Given the description of an element on the screen output the (x, y) to click on. 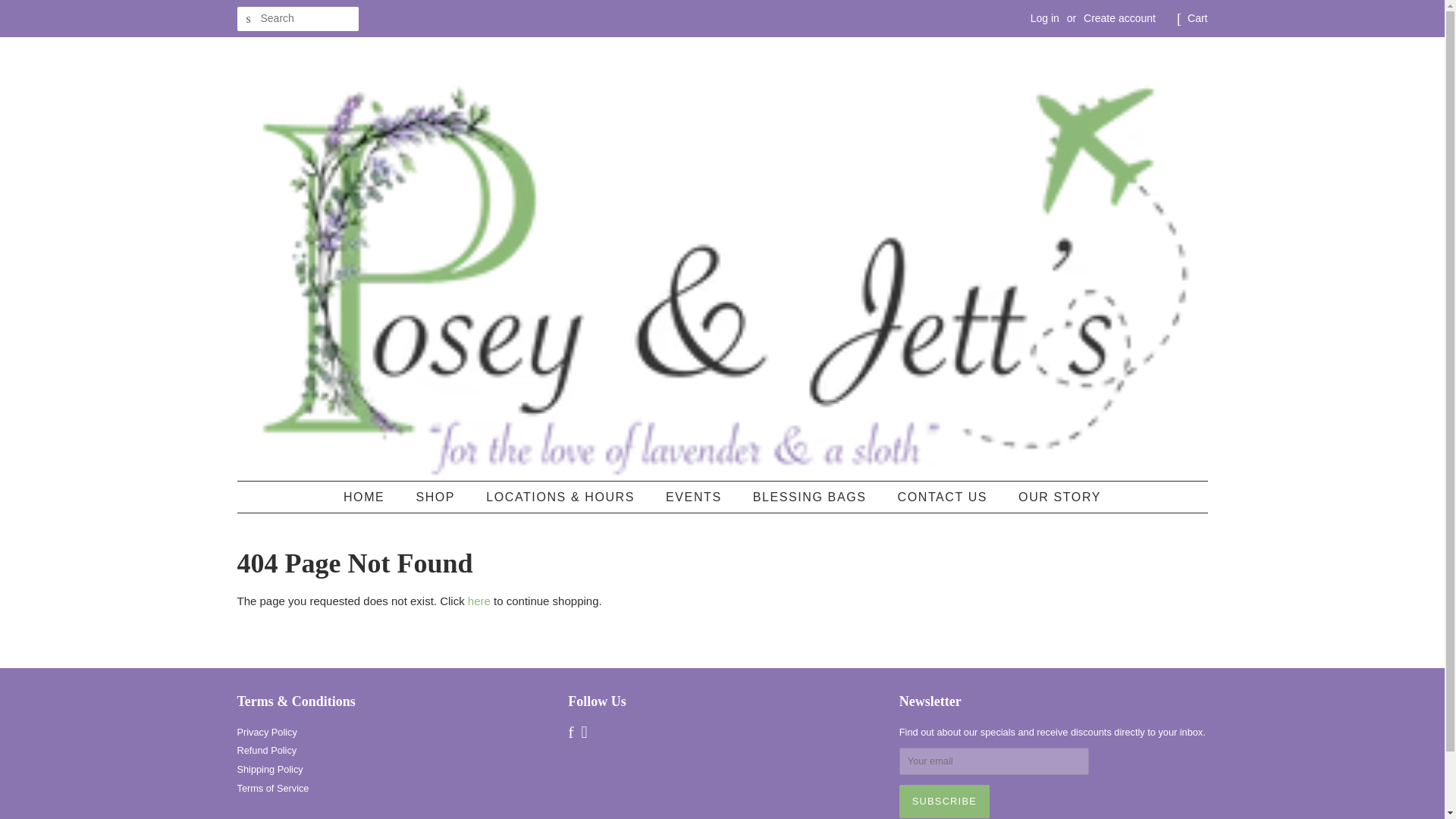
OUR STORY (1053, 496)
Subscribe (944, 801)
HOME (370, 496)
Refund Policy (266, 749)
here (478, 600)
SHOP (437, 496)
EVENTS (694, 496)
Cart (1197, 18)
Terms of Service (271, 787)
SEARCH (247, 18)
